Given the description of an element on the screen output the (x, y) to click on. 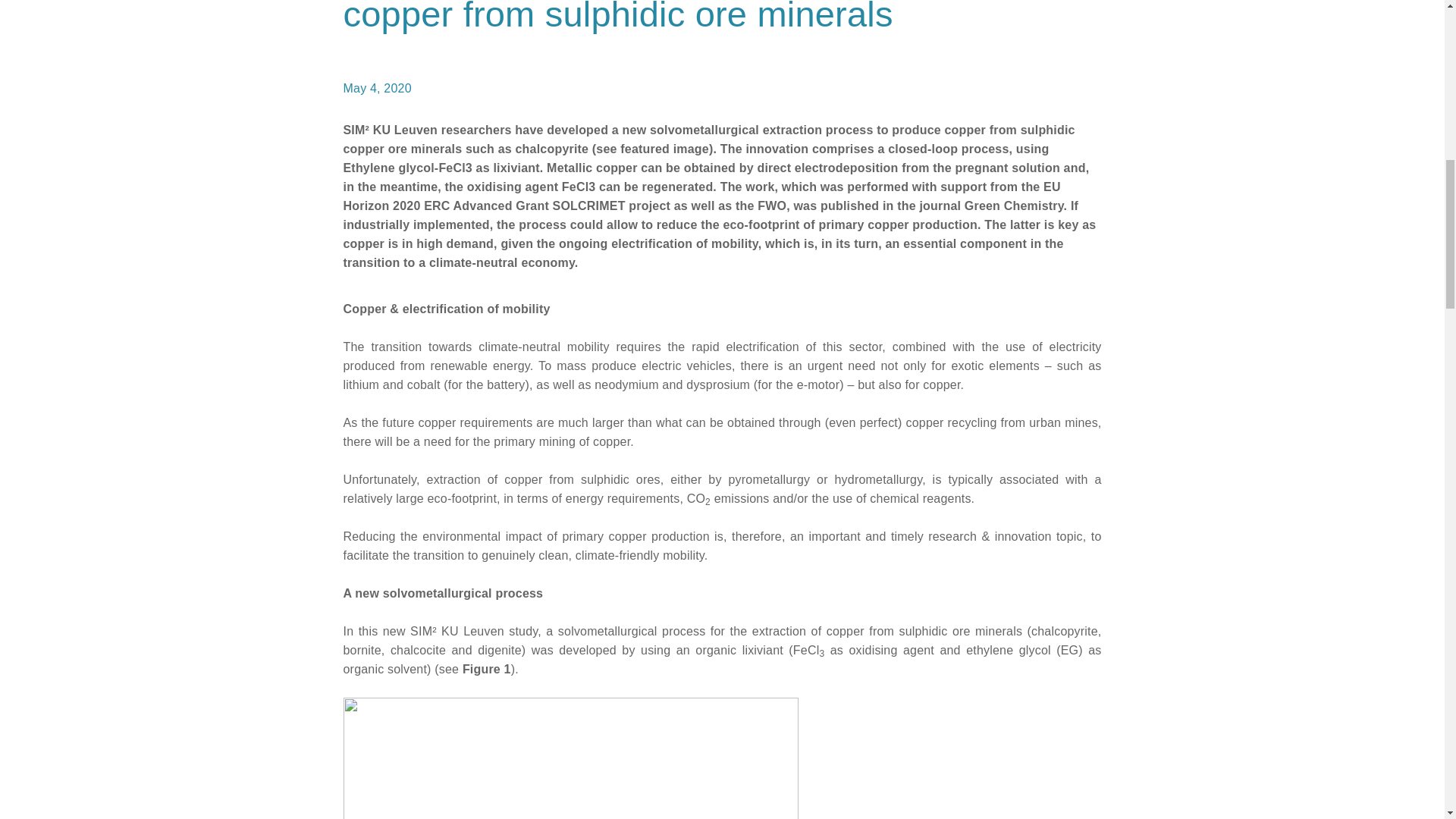
May 4, 2020 (376, 87)
